Given the description of an element on the screen output the (x, y) to click on. 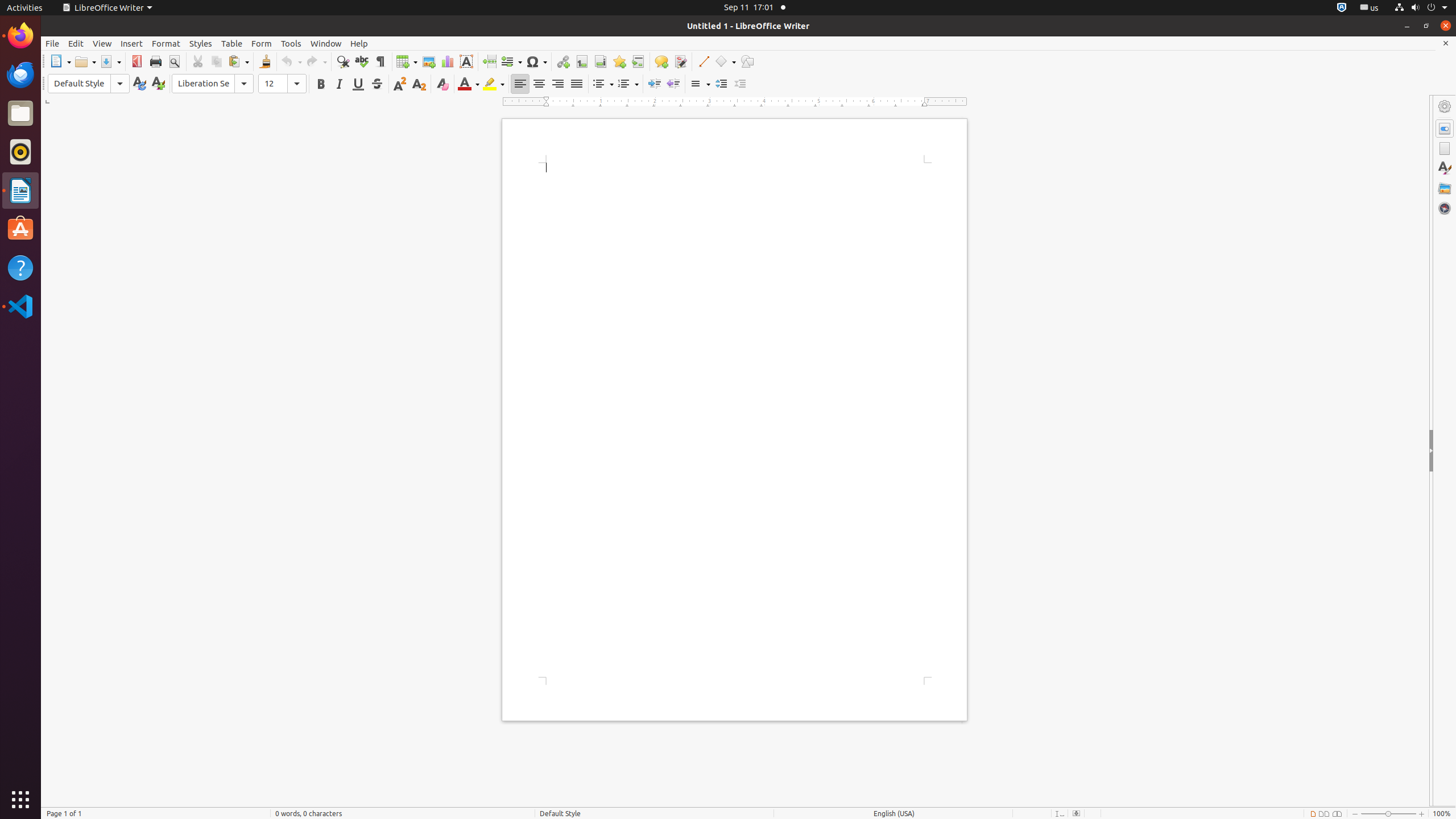
Open Element type: push-button (84, 61)
Comment Element type: push-button (660, 61)
Hyperlink Element type: toggle-button (562, 61)
